Given the description of an element on the screen output the (x, y) to click on. 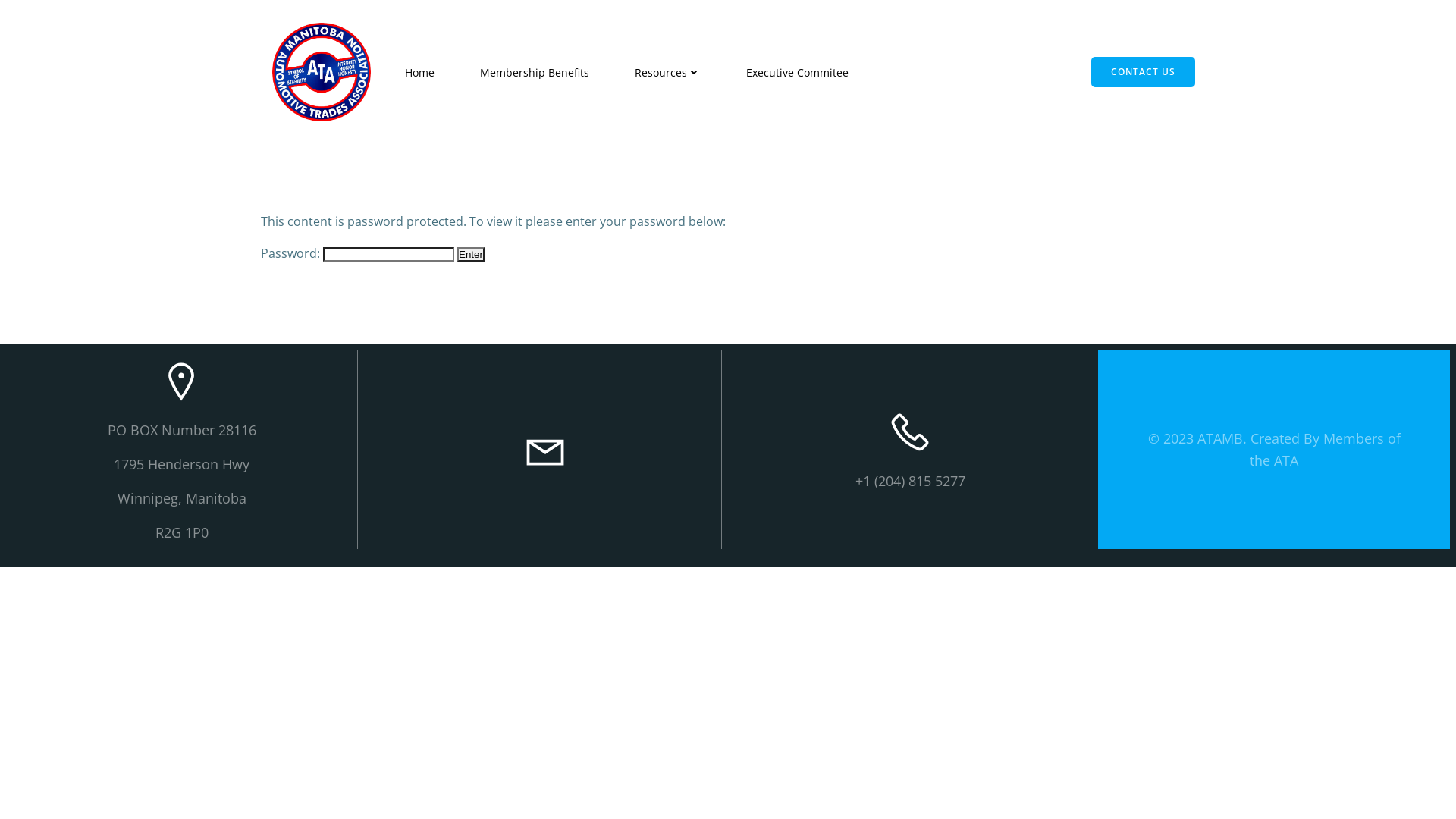
CONTACT US Element type: text (1143, 71)
Membership Benefits Element type: text (534, 71)
Home Element type: text (419, 71)
Enter Element type: text (470, 254)
Resources Element type: text (667, 71)
Executive Commitee Element type: text (797, 71)
